Given the description of an element on the screen output the (x, y) to click on. 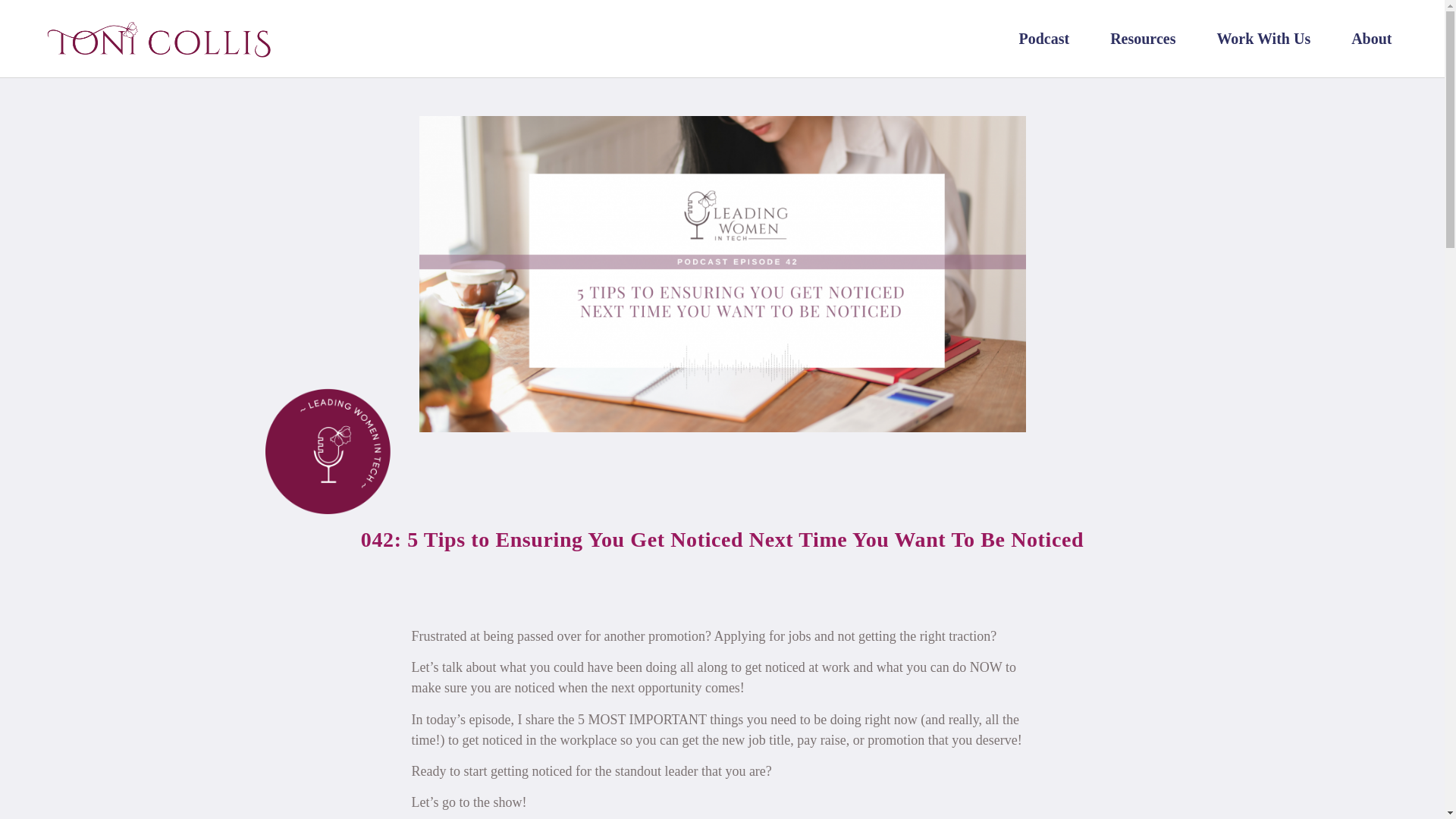
About (1371, 38)
Podcast (1043, 38)
TC logo (156, 38)
Resources (1142, 38)
Work With Us (1262, 38)
